Given the description of an element on the screen output the (x, y) to click on. 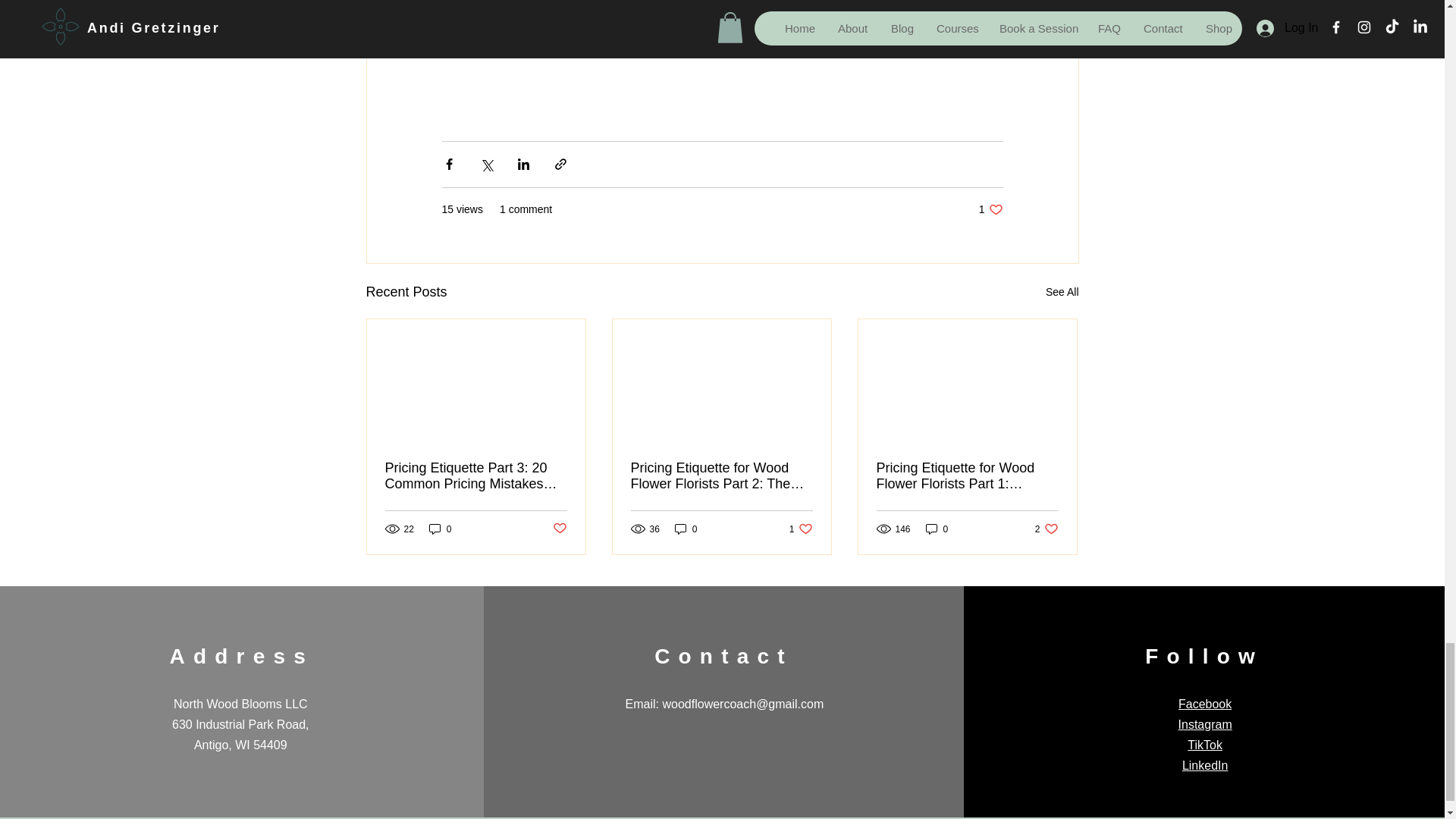
Post not marked as liked (800, 528)
0 (990, 209)
0 (558, 528)
See All (685, 528)
